Given the description of an element on the screen output the (x, y) to click on. 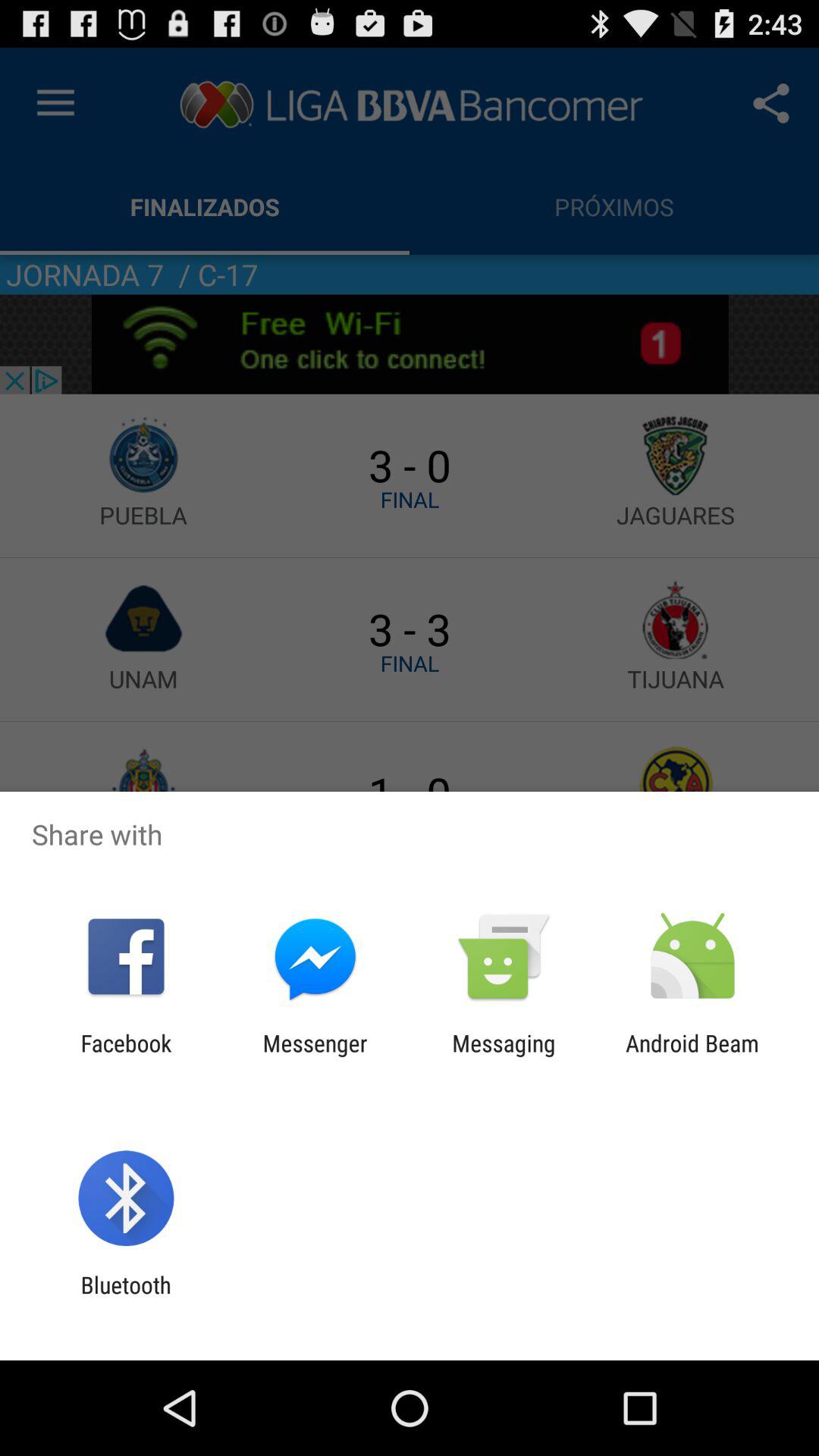
press item to the right of the messaging item (692, 1056)
